Given the description of an element on the screen output the (x, y) to click on. 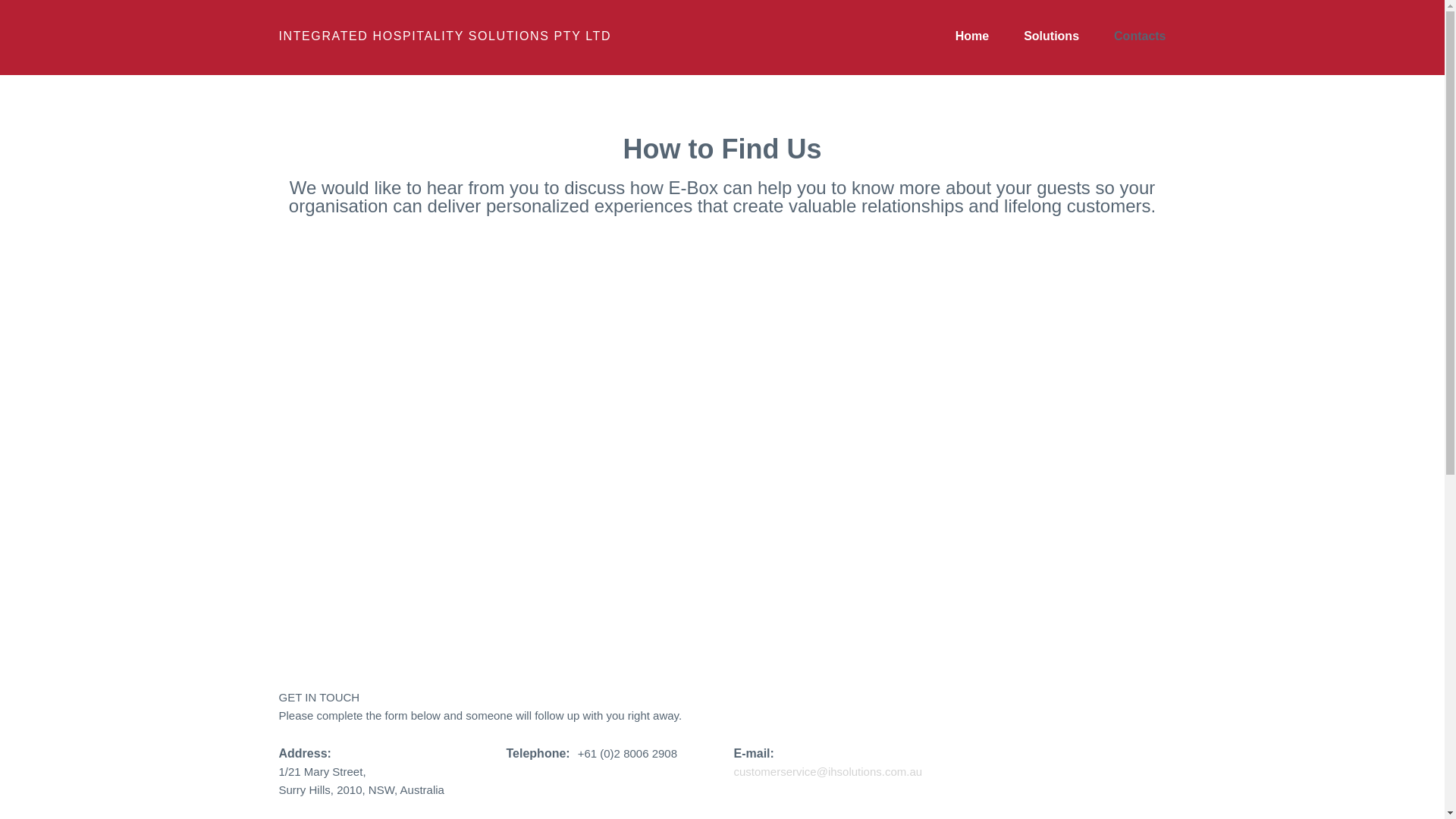
INTEGRATED HOSPITALITY SOLUTIONS PTY LTD Element type: text (445, 35)
Home Element type: text (971, 35)
Solutions Element type: text (1051, 35)
Contacts Element type: text (1139, 35)
customerservice@ihsolutions.com.au Element type: text (828, 771)
